Given the description of an element on the screen output the (x, y) to click on. 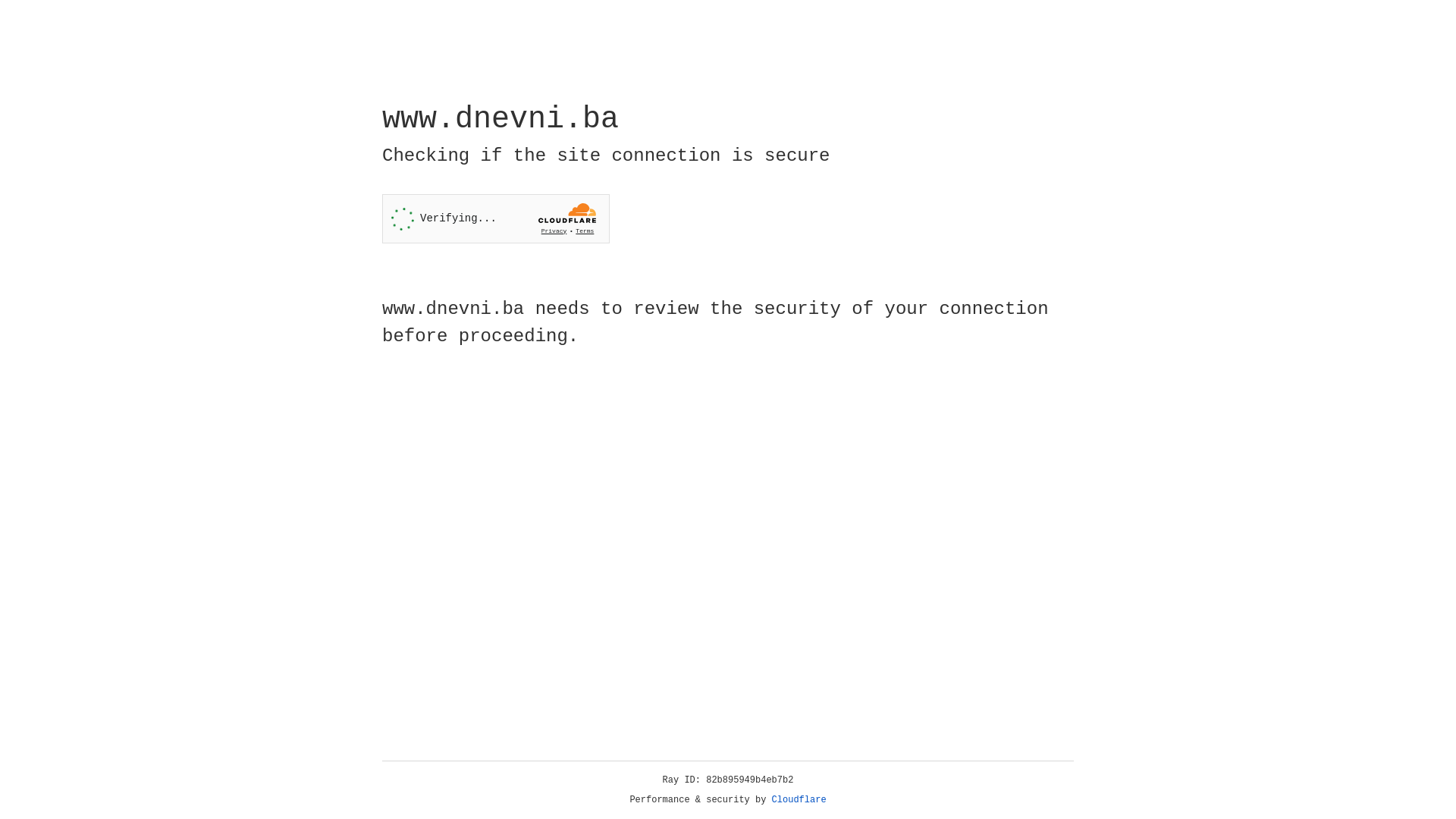
Cloudflare Element type: text (798, 799)
Widget containing a Cloudflare security challenge Element type: hover (495, 218)
